Given the description of an element on the screen output the (x, y) to click on. 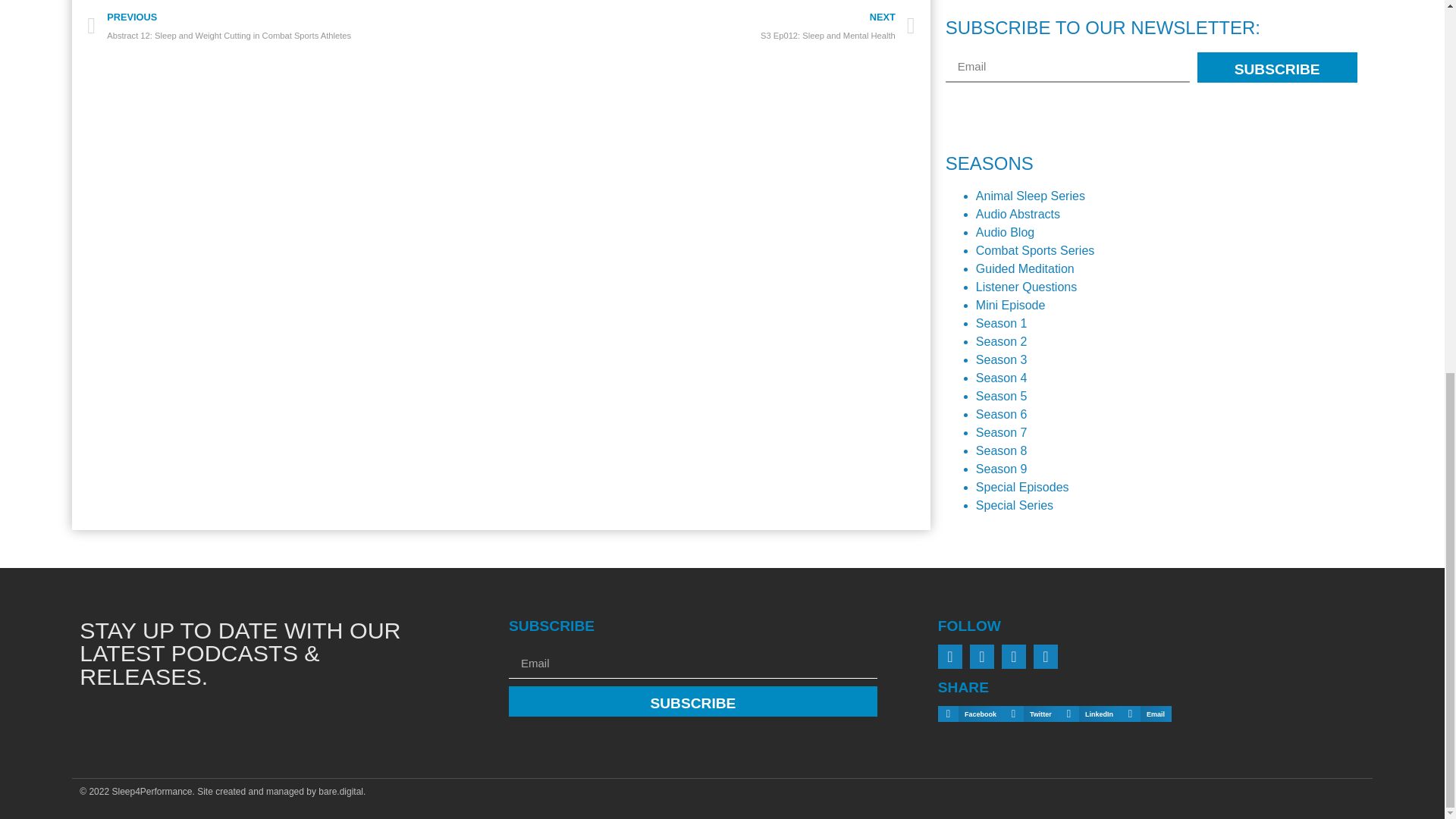
SUBSCRIBE (1276, 67)
Animal Sleep Series (1029, 195)
